Given the description of an element on the screen output the (x, y) to click on. 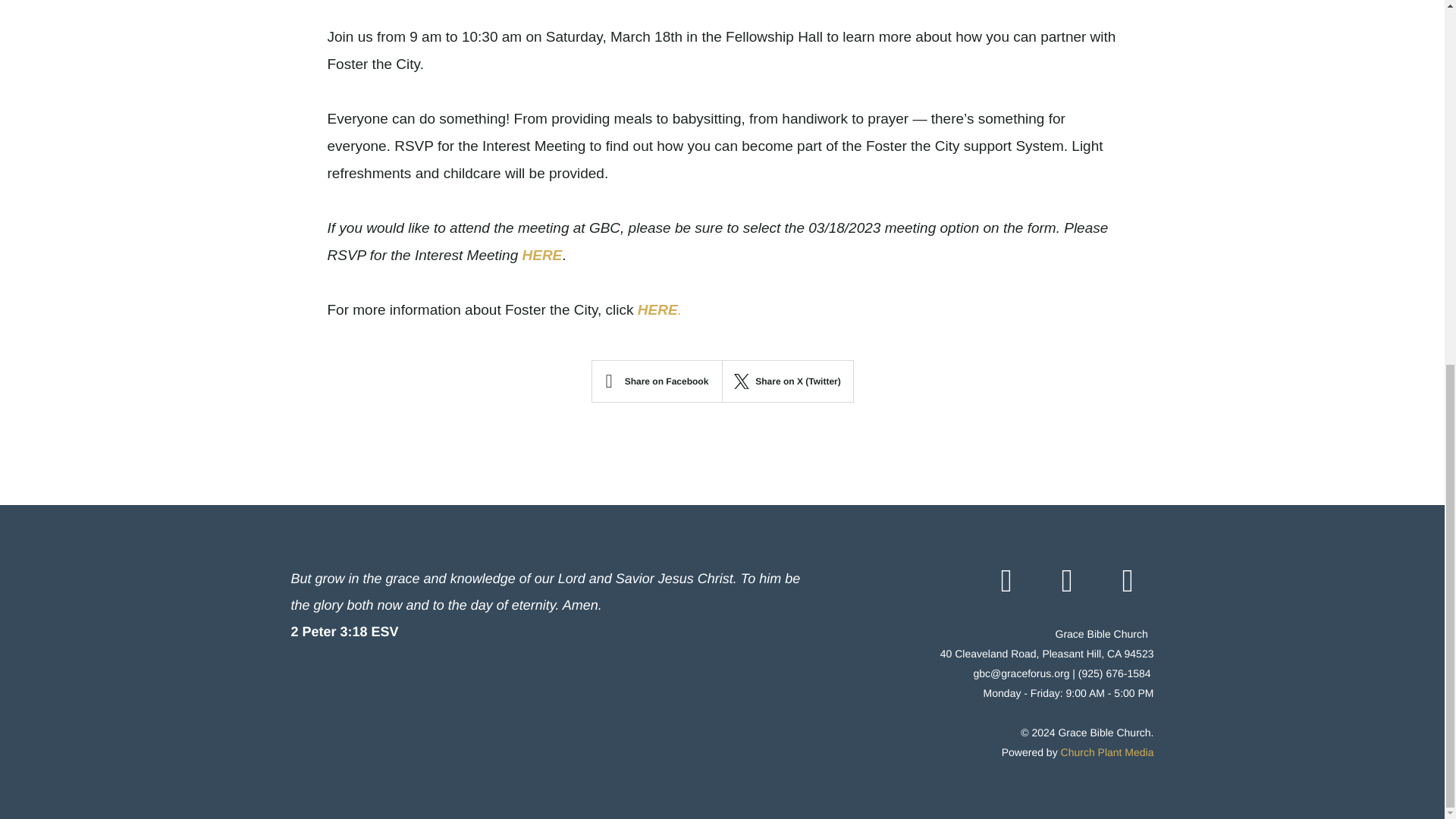
facebook (1016, 581)
youtube (1137, 581)
instagram (1077, 581)
